Given the description of an element on the screen output the (x, y) to click on. 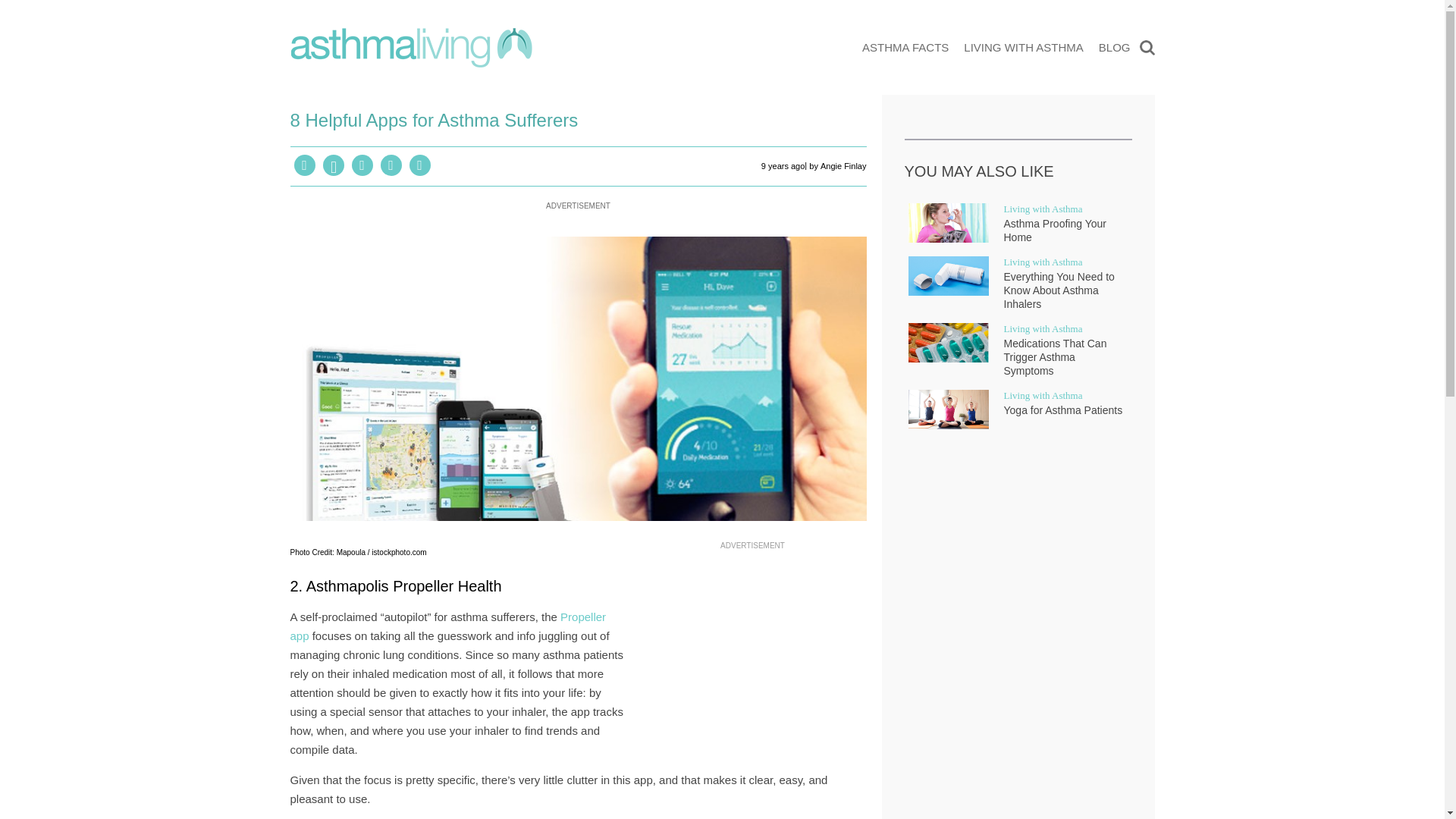
ASTHMA FACTS (905, 47)
Propeller app (447, 626)
Twitter (390, 165)
Angie Finlay (843, 166)
Messenger (362, 165)
Email (419, 165)
BLOG (1115, 47)
AsthmaLiving.today (410, 47)
istockphoto.com (398, 551)
Facebook (304, 165)
